Given the description of an element on the screen output the (x, y) to click on. 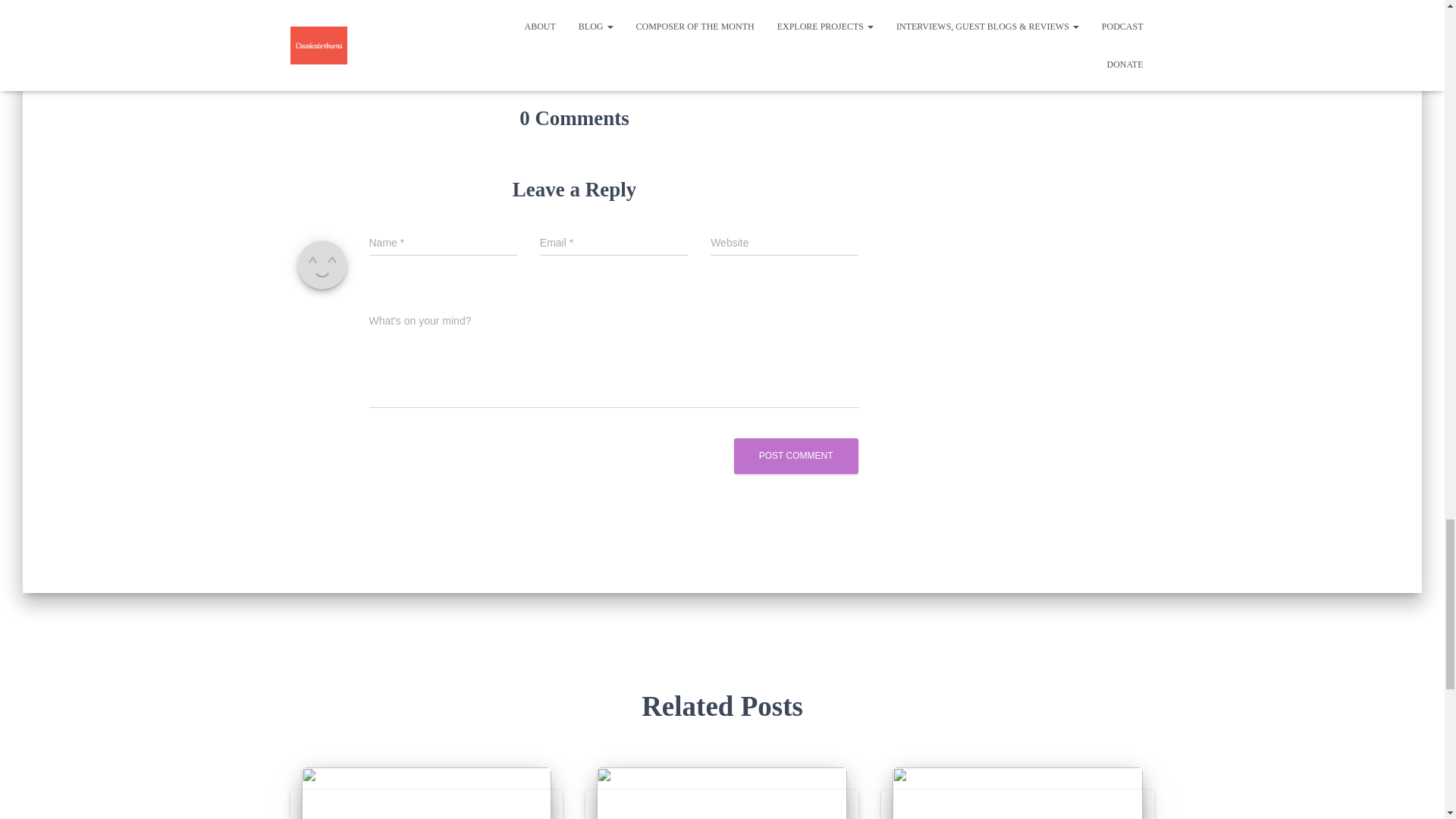
Post Comment (796, 456)
